Given the description of an element on the screen output the (x, y) to click on. 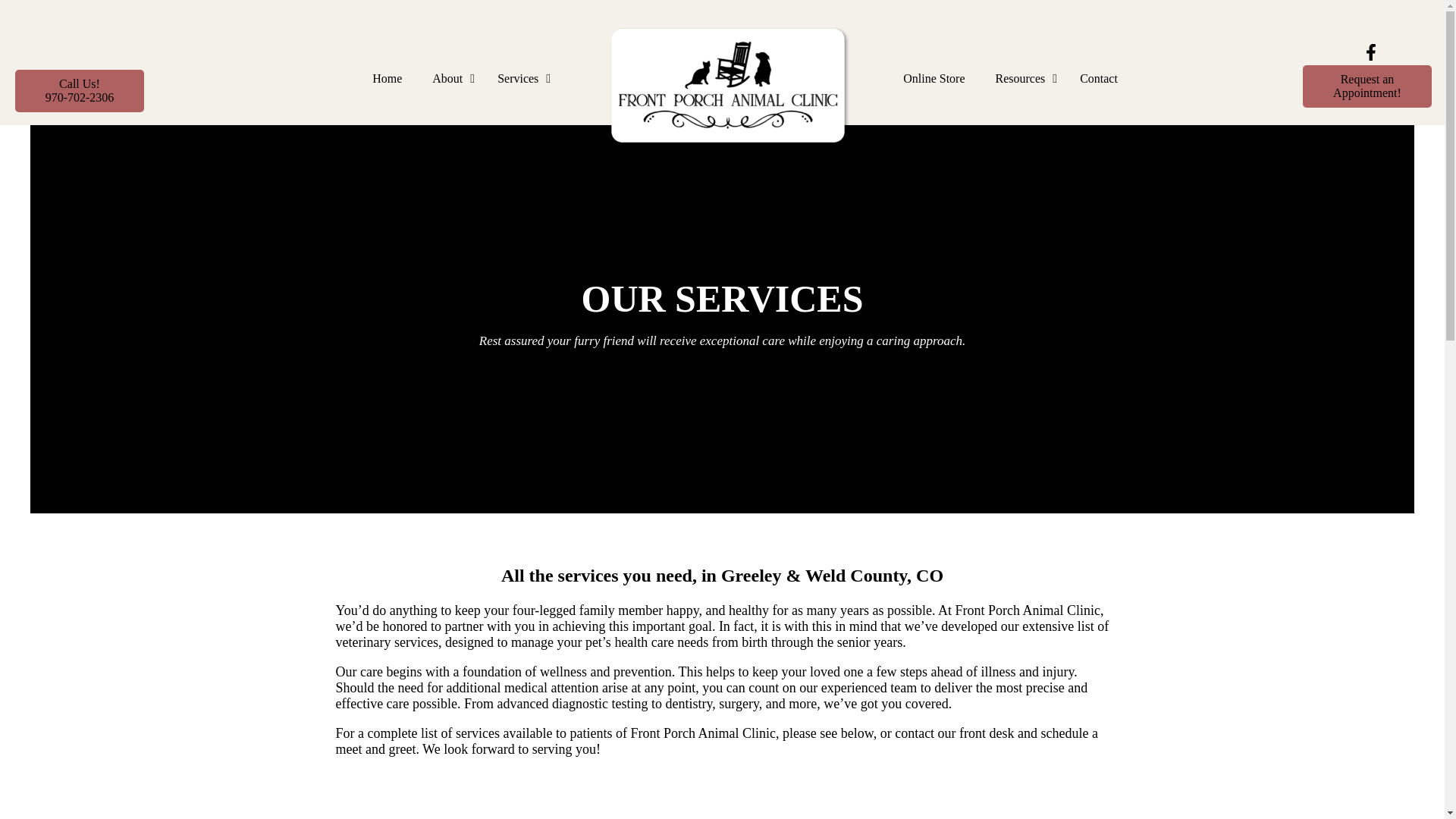
Call Us! 970-702-2306 (79, 90)
Services (520, 78)
About (449, 78)
Home (386, 78)
